Given the description of an element on the screen output the (x, y) to click on. 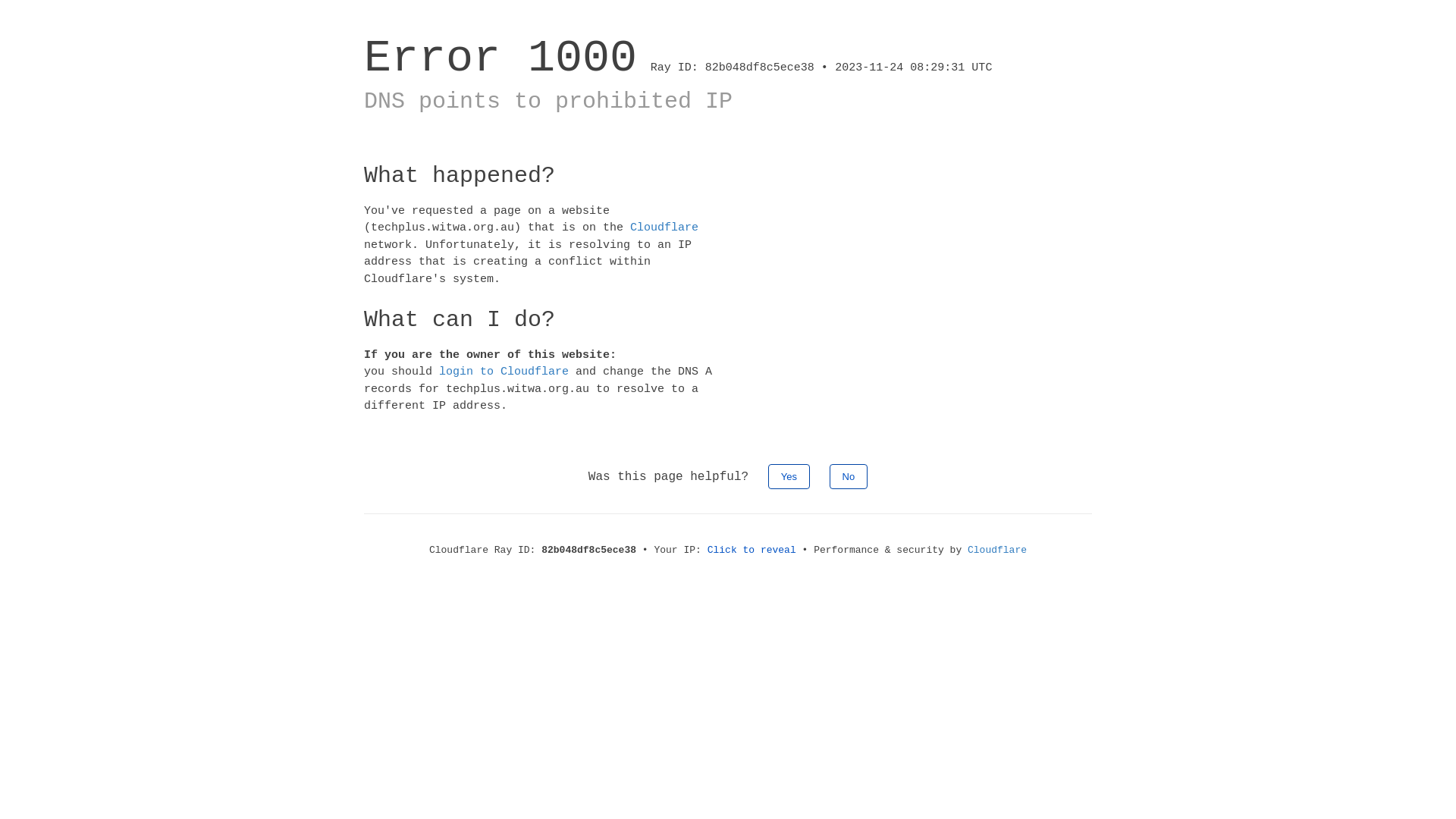
Click to reveal Element type: text (751, 549)
Yes Element type: text (788, 476)
Cloudflare Element type: text (664, 227)
login to Cloudflare Element type: text (503, 371)
Cloudflare Element type: text (996, 549)
No Element type: text (848, 476)
